Given the description of an element on the screen output the (x, y) to click on. 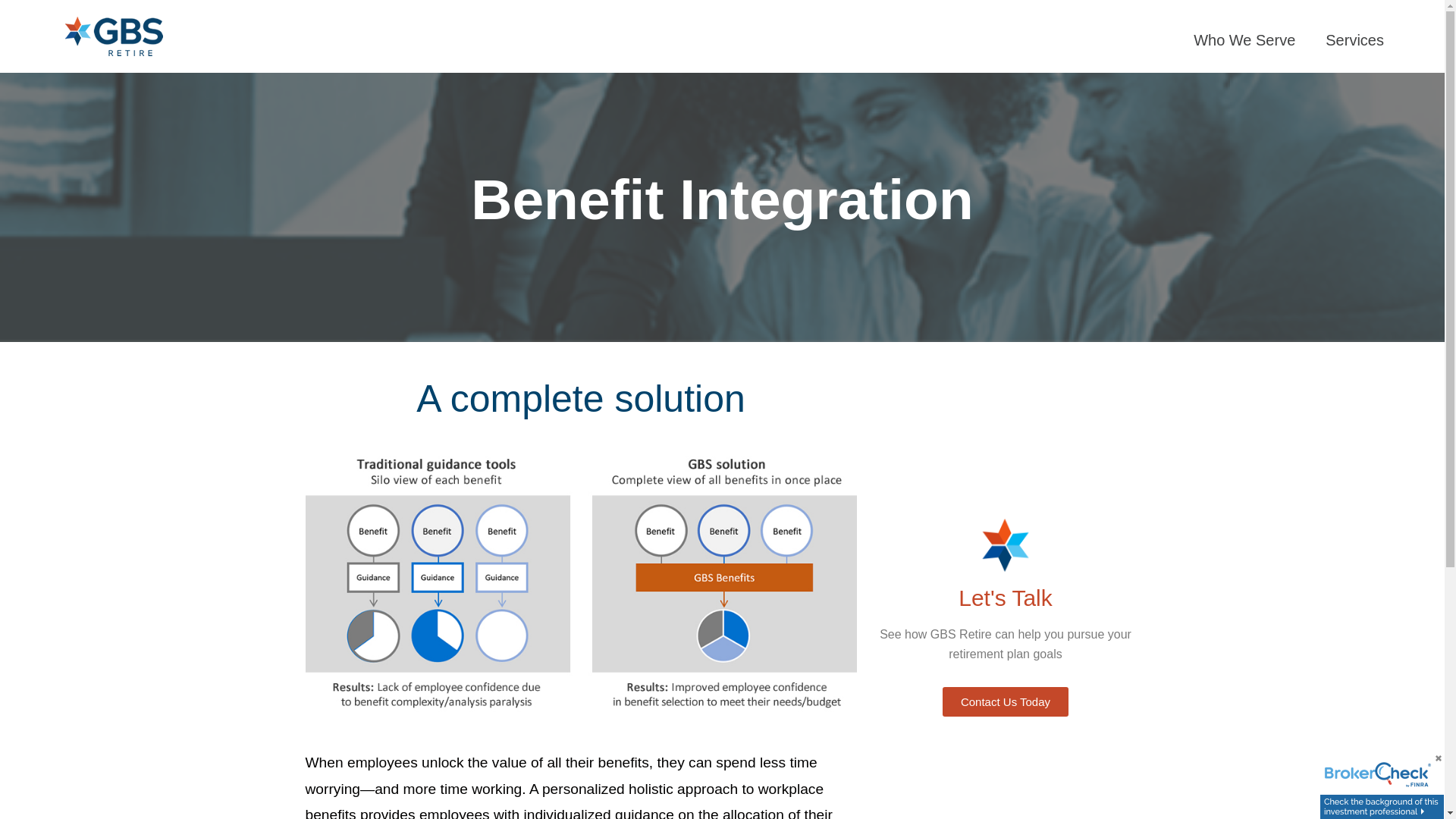
Contact Us Today (1005, 701)
Services (1357, 39)
Who We Serve (1248, 39)
